Given the description of an element on the screen output the (x, y) to click on. 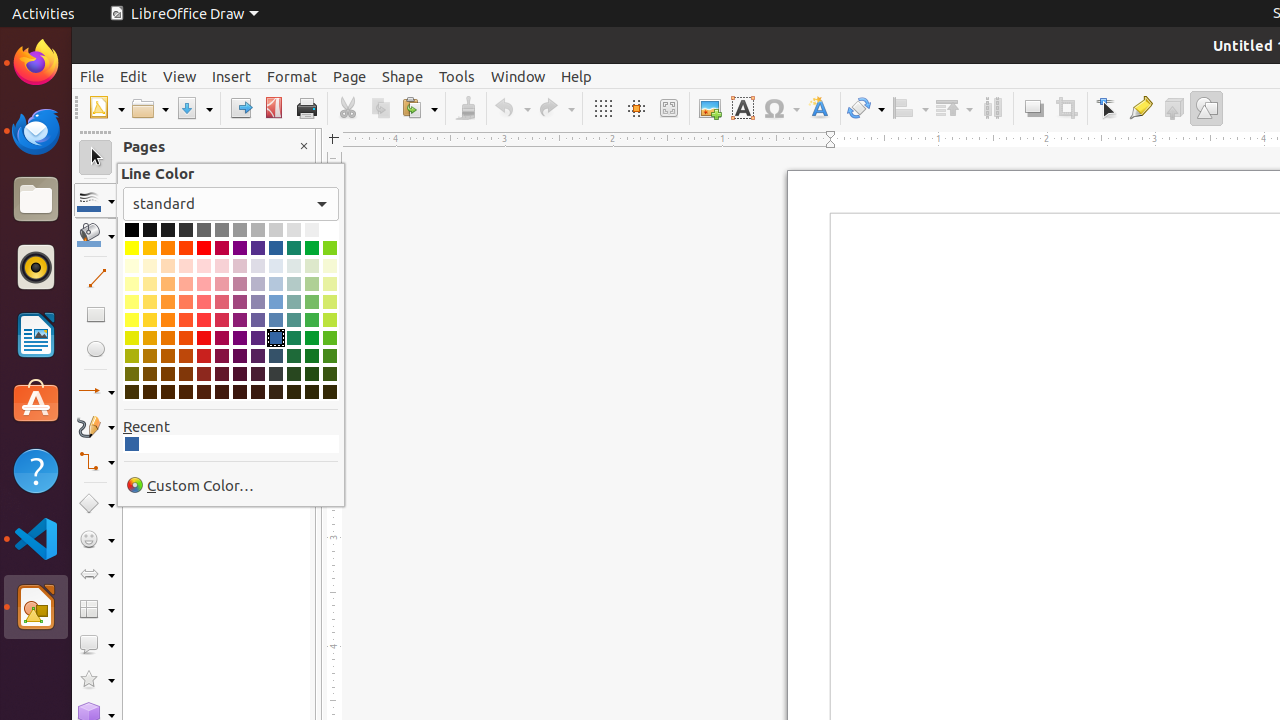
Dark Green 4 Element type: list-item (312, 392)
Dark Orange 4 Element type: list-item (168, 392)
Dark Indigo 1 Element type: list-item (258, 338)
Edit Points Element type: push-button (1107, 108)
Open Element type: push-button (150, 108)
